Given the description of an element on the screen output the (x, y) to click on. 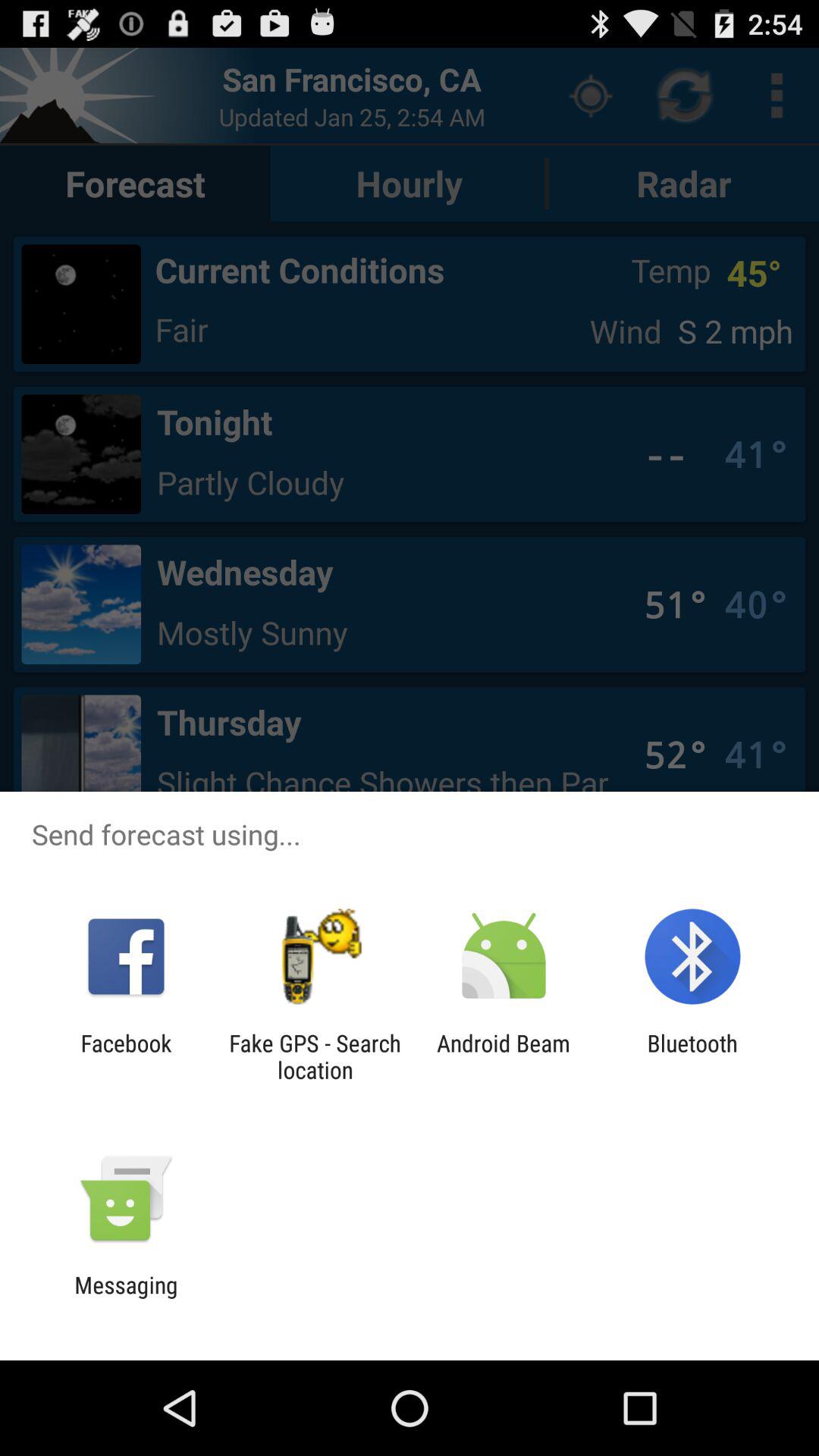
select the icon next to the fake gps search (125, 1056)
